Given the description of an element on the screen output the (x, y) to click on. 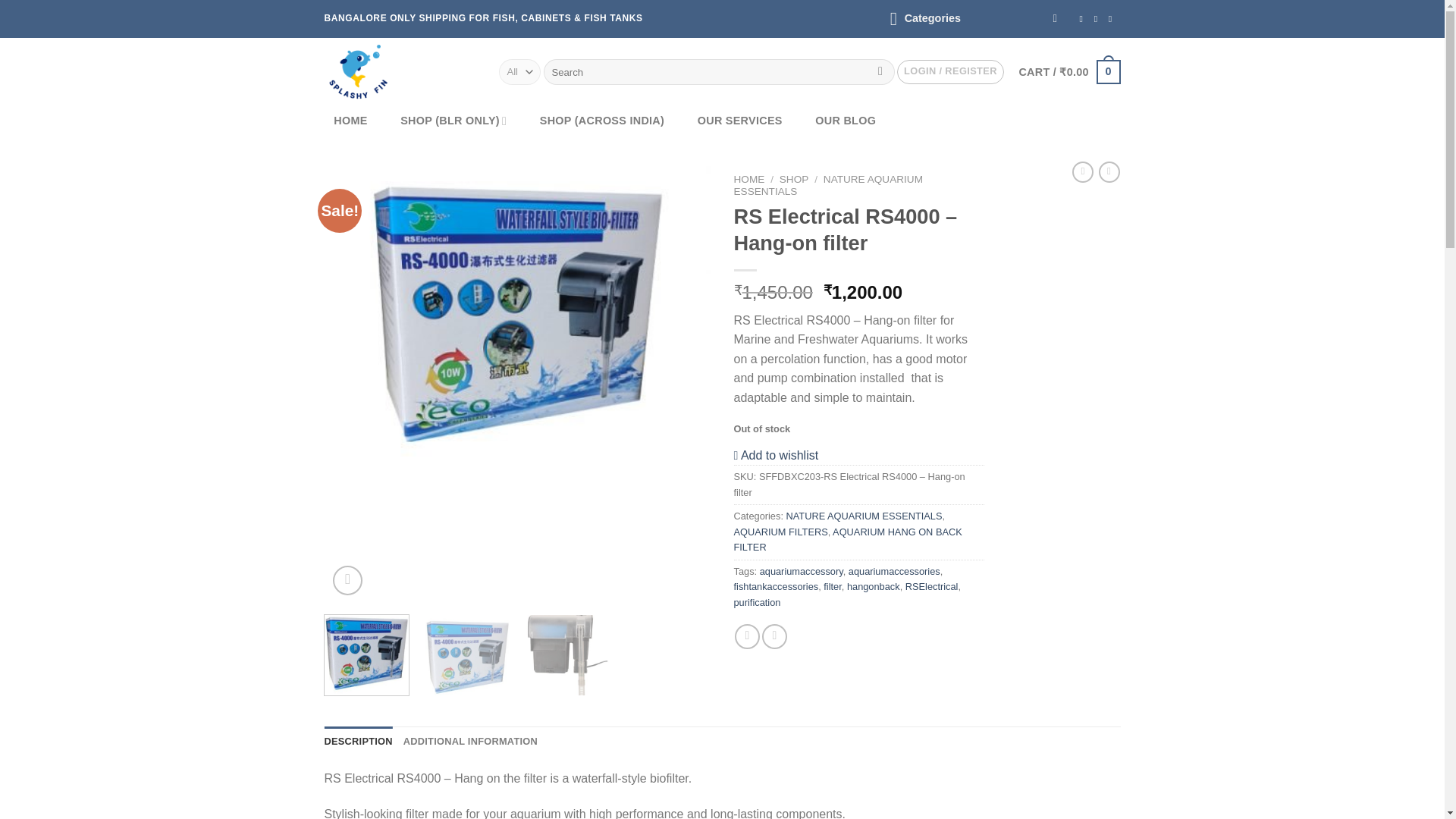
HOME (350, 120)
RS-4000-img-1 (517, 313)
RS-4000-img-1 (904, 313)
Share on Facebook (747, 636)
Cart (1068, 72)
Zoom (347, 580)
Search (880, 71)
